Given the description of an element on the screen output the (x, y) to click on. 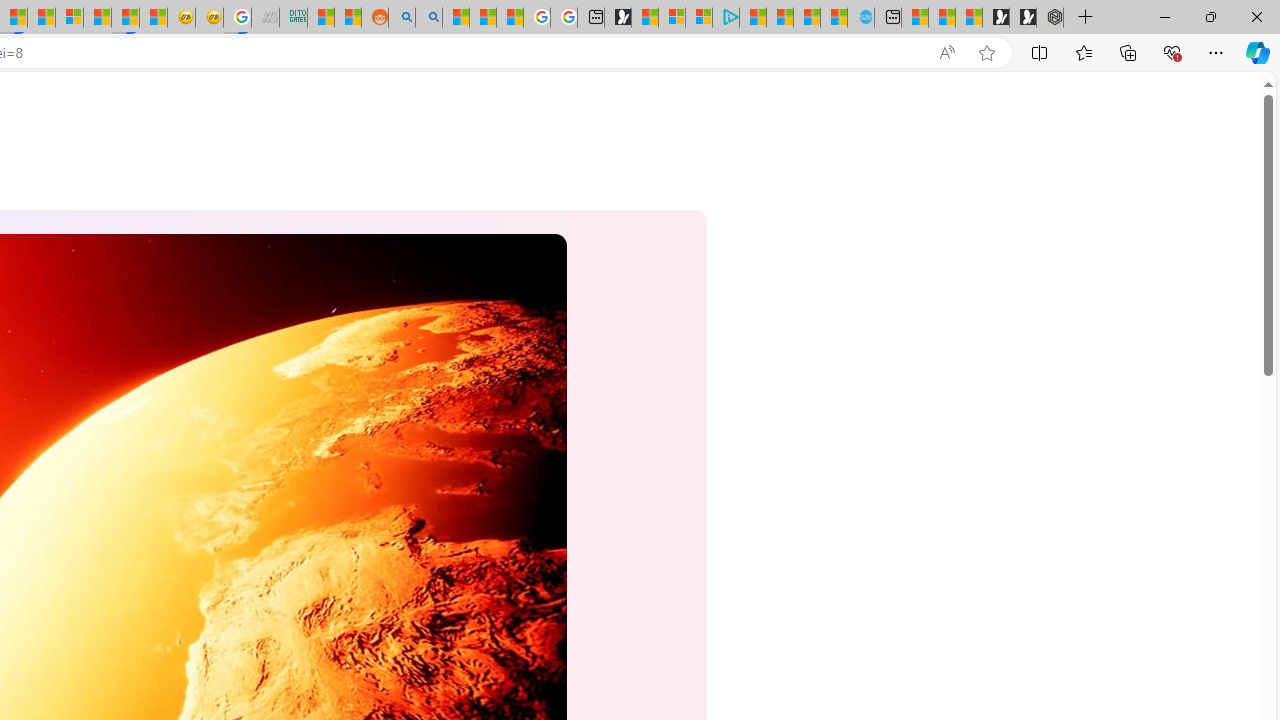
14 Common Myths Debunked By Scientific Facts (41, 17)
Utah sues federal government - Search (428, 17)
